Given the description of an element on the screen output the (x, y) to click on. 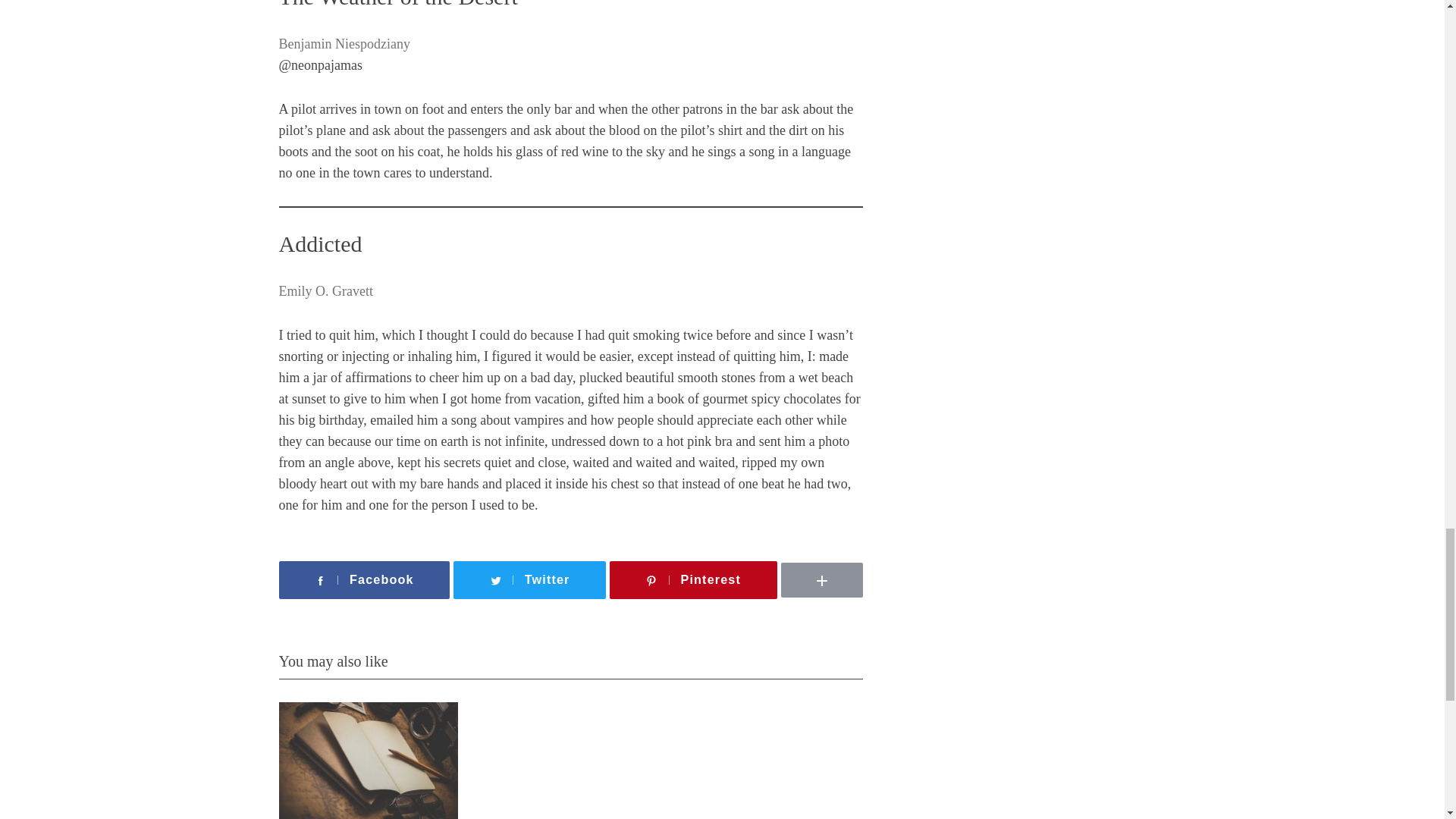
Twitter (528, 580)
Emily O. Gravett (325, 290)
Facebook (364, 580)
LINKEDIN (867, 558)
Pinterest (693, 580)
Benjamin Niespodziany (344, 43)
